Given the description of an element on the screen output the (x, y) to click on. 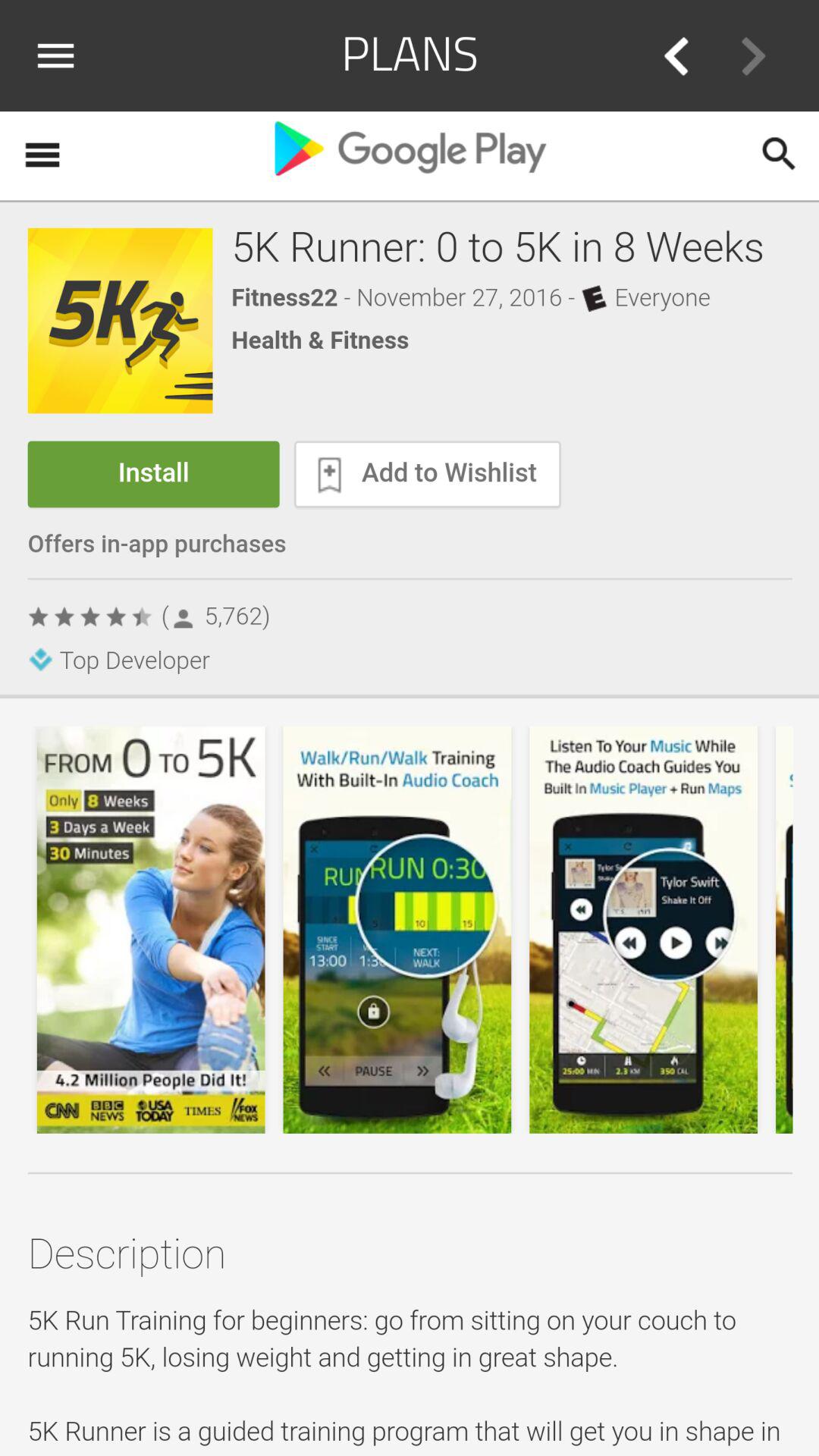
expand the menu (61, 55)
